Given the description of an element on the screen output the (x, y) to click on. 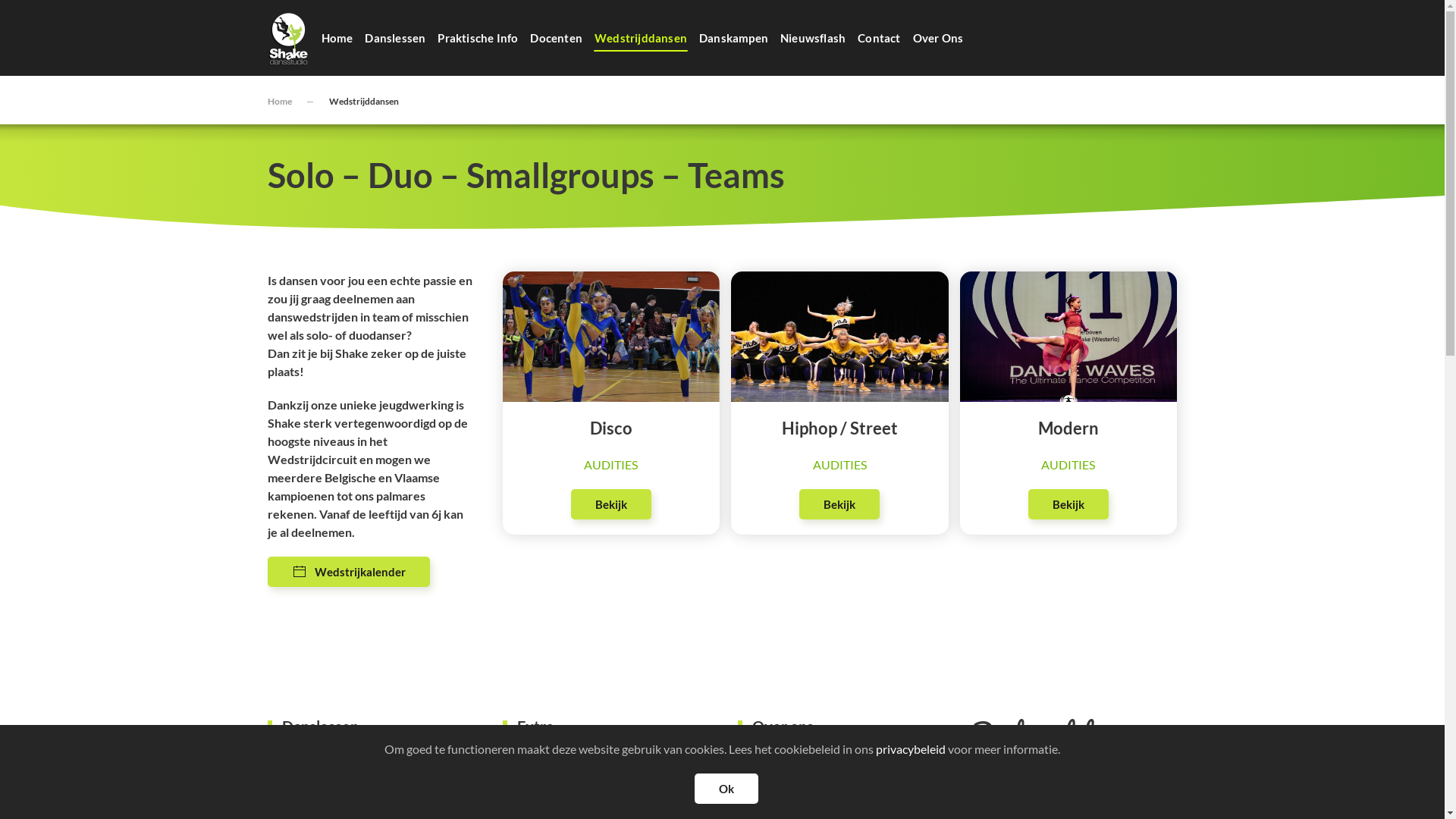
privacybeleid Element type: text (910, 748)
Danskampen Element type: text (733, 37)
Nieuwsflash Element type: text (812, 37)
Contact Element type: text (755, 760)
Wedstrijddansen Element type: text (640, 37)
AUDITIES Element type: text (1068, 464)
Lessenrooster Element type: text (389, 783)
Bekijk Element type: text (611, 504)
Praktische info Element type: text (656, 783)
Ok Element type: text (726, 788)
Danskampen & workshops Element type: text (564, 760)
Privacybeleid Element type: text (843, 760)
Over Ons Element type: text (937, 37)
Dansstijlen Element type: text (292, 783)
Lidgeld Element type: text (421, 760)
Contact Element type: text (878, 37)
Locaties Element type: text (285, 807)
Docenten Element type: text (556, 37)
AUDITIES Element type: text (610, 464)
Danslessen Element type: text (394, 37)
Wedstrijkalender Element type: text (347, 571)
AUDITIES Element type: text (839, 464)
Praktische Info Element type: text (477, 37)
Over onze danslessen Element type: text (317, 760)
Nieuwsflash Element type: text (531, 807)
Home Element type: text (337, 37)
Wedstrijddansen Element type: text (542, 783)
Home Element type: text (278, 100)
Bekijk Element type: text (839, 504)
Bekijk Element type: text (1068, 504)
